Given the description of an element on the screen output the (x, y) to click on. 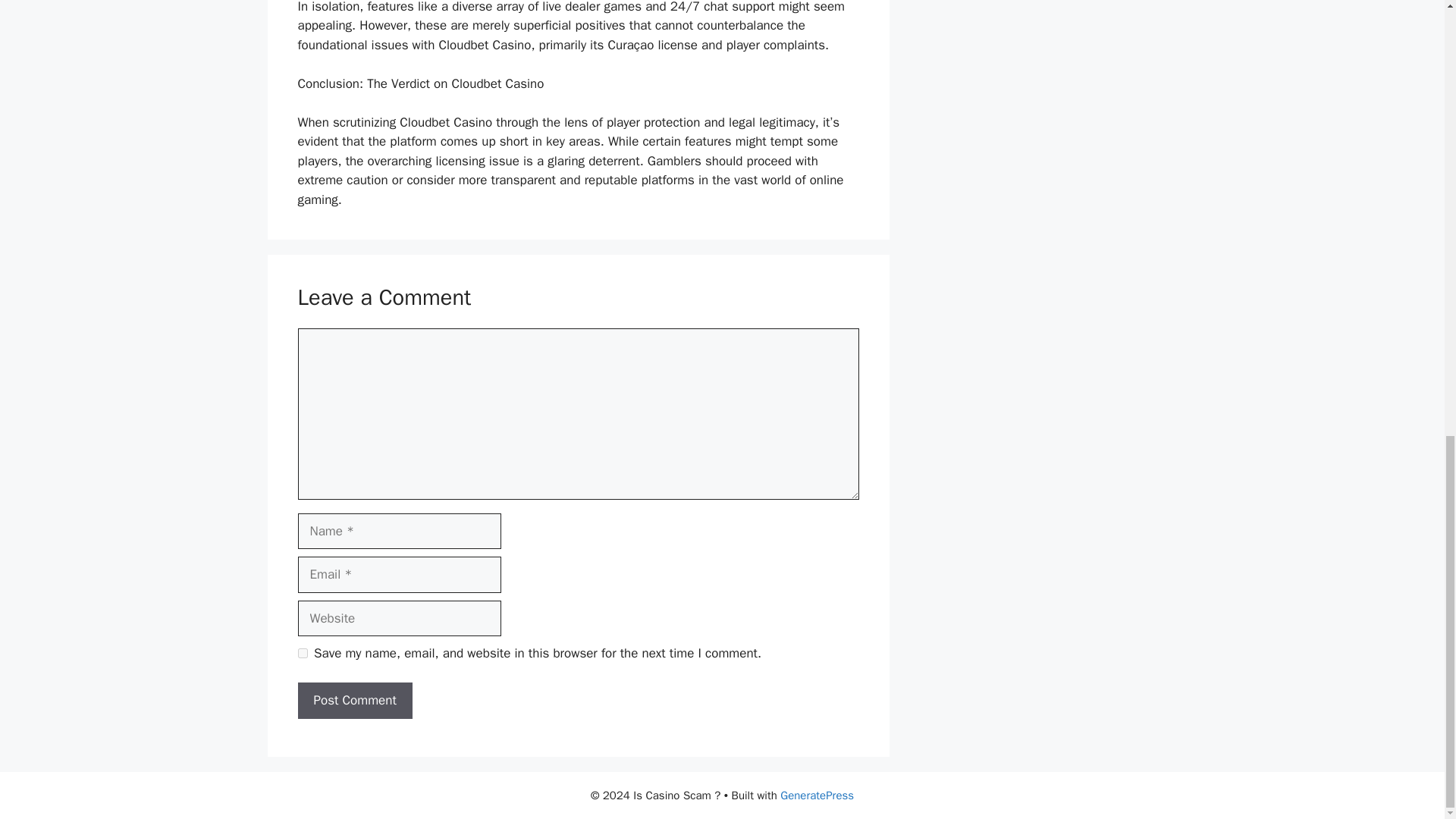
yes (302, 653)
Post Comment (354, 700)
Post Comment (354, 700)
